Given the description of an element on the screen output the (x, y) to click on. 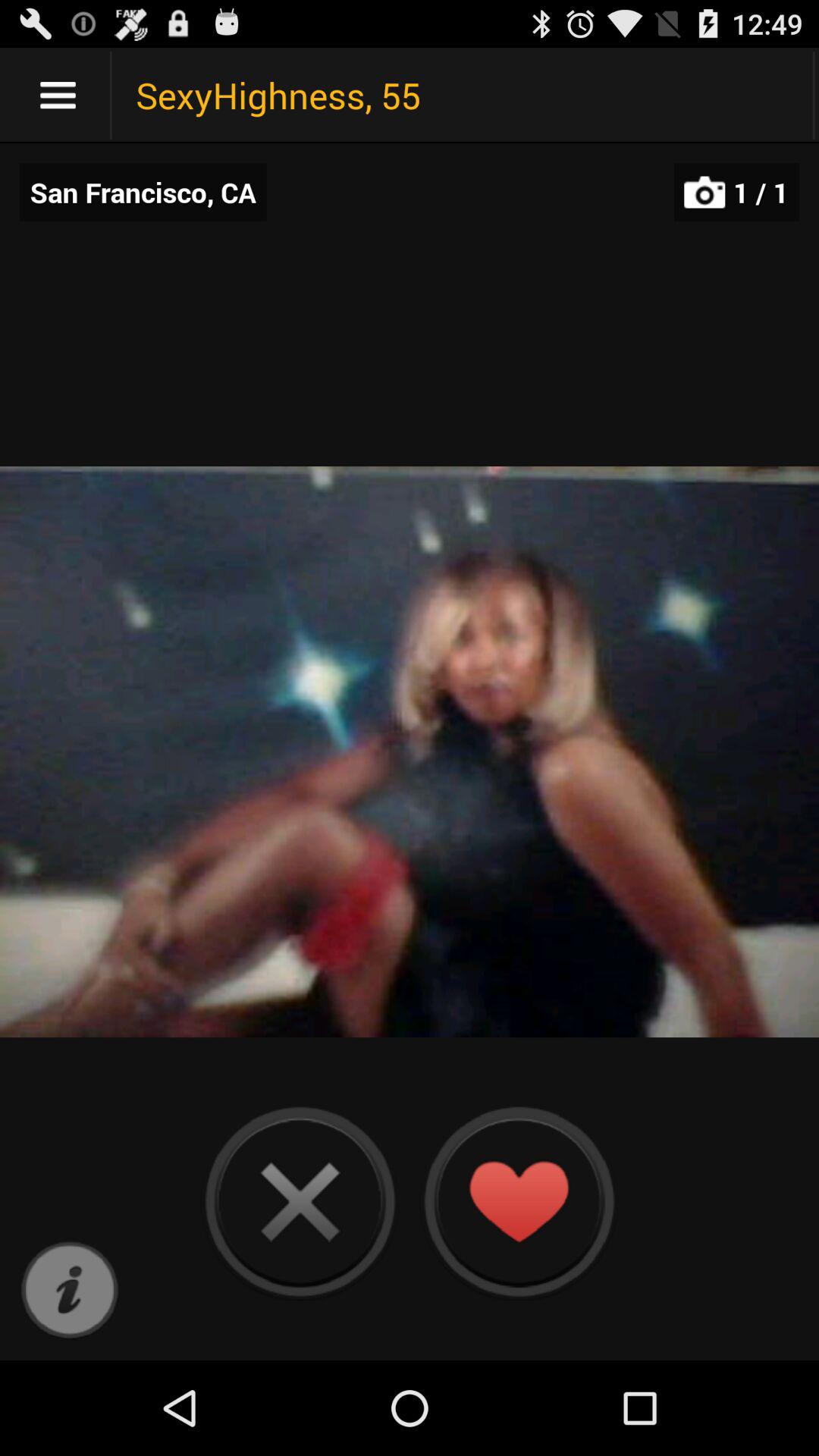
get info (69, 1290)
